Given the description of an element on the screen output the (x, y) to click on. 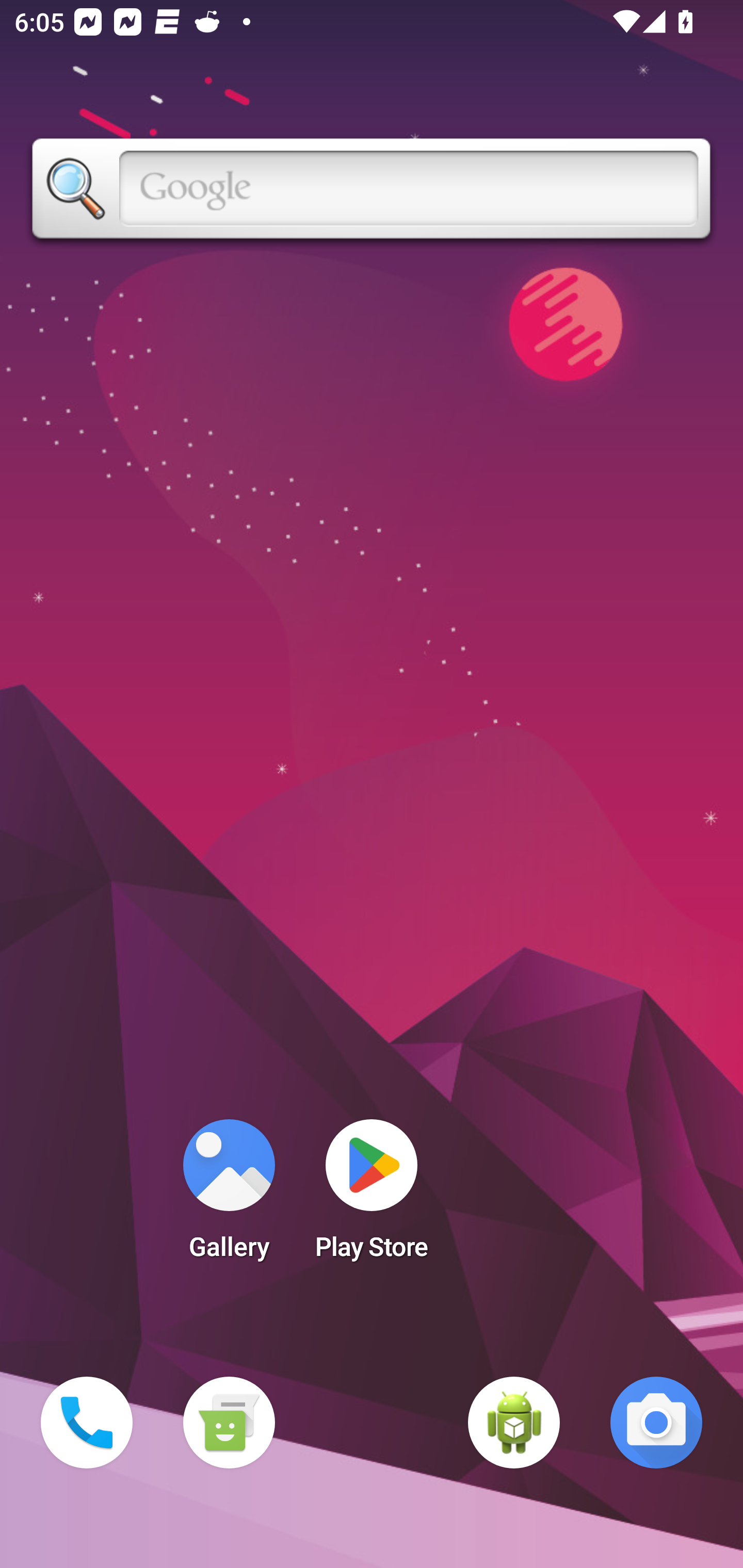
Gallery (228, 1195)
Play Store (371, 1195)
Phone (86, 1422)
Messaging (228, 1422)
WebView Browser Tester (513, 1422)
Camera (656, 1422)
